Given the description of an element on the screen output the (x, y) to click on. 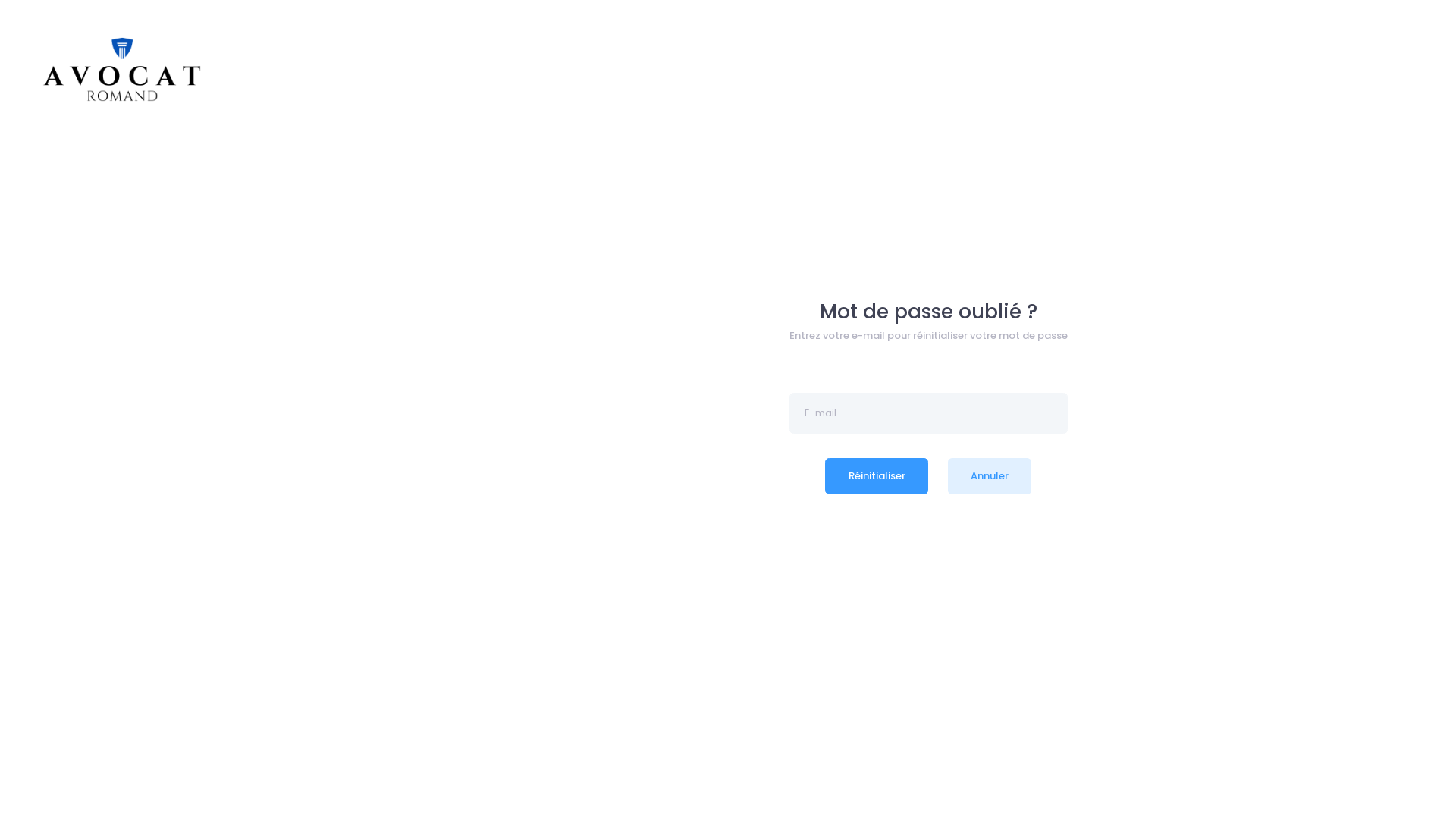
Annuler Element type: text (989, 476)
Contact Element type: text (356, 786)
EROM Element type: text (76, 786)
